Given the description of an element on the screen output the (x, y) to click on. 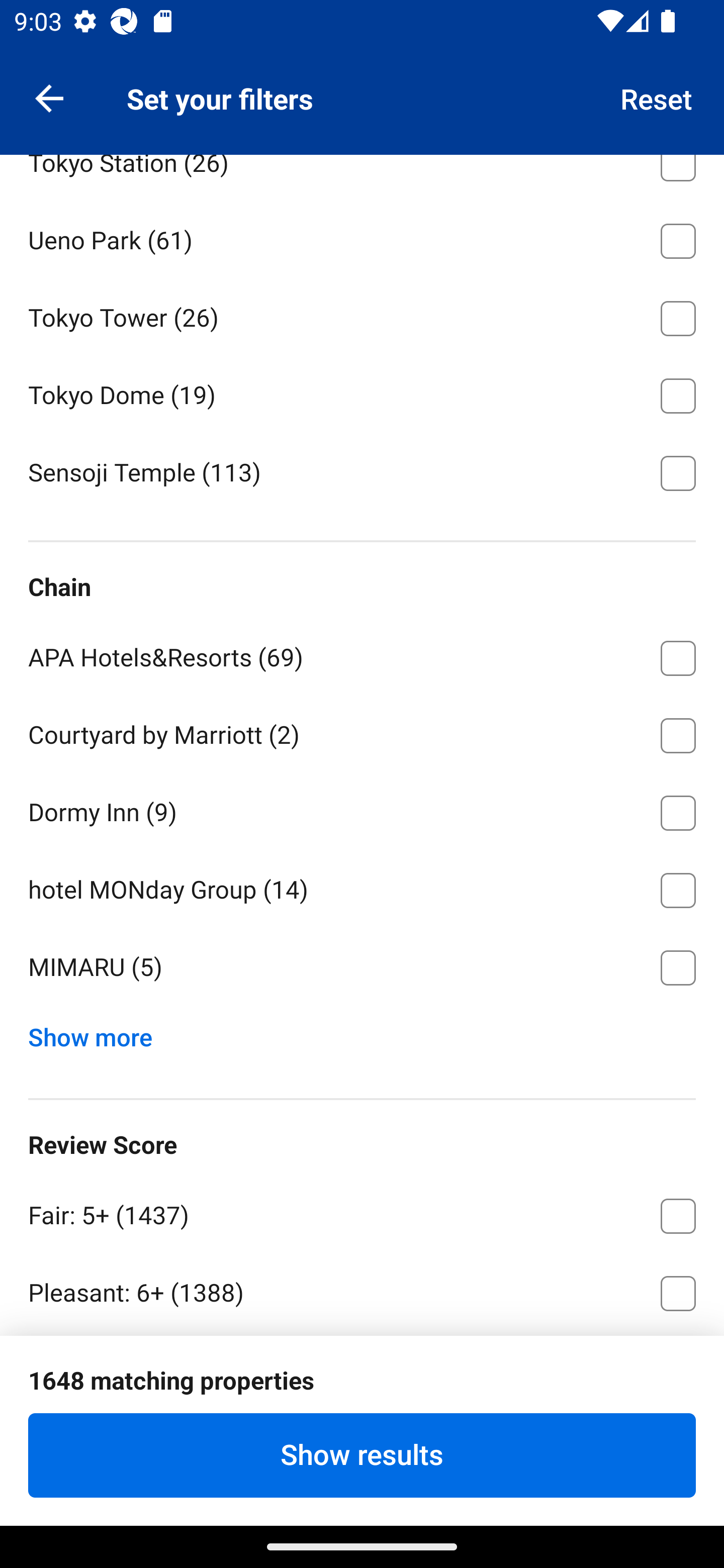
Navigate up (49, 97)
Reset (656, 97)
Tokyo Station ⁦(26) (361, 177)
Ueno Park ⁦(61) (361, 237)
Tokyo Tower ⁦(26) (361, 314)
Tokyo Dome ⁦(19) (361, 392)
Sensoji Temple ⁦(113) (361, 471)
APA Hotels&Resorts ⁦(69) (361, 654)
Courtyard by Marriott ⁦(2) (361, 732)
Dormy Inn ⁦(9) (361, 809)
hotel MONday Group ⁦(14) (361, 886)
MIMARU ⁦(5) (361, 967)
Show more (97, 1032)
Fair: 5+ ⁦(1437) (361, 1212)
Pleasant: 6+ ⁦(1388) (361, 1289)
Show results (361, 1454)
